Given the description of an element on the screen output the (x, y) to click on. 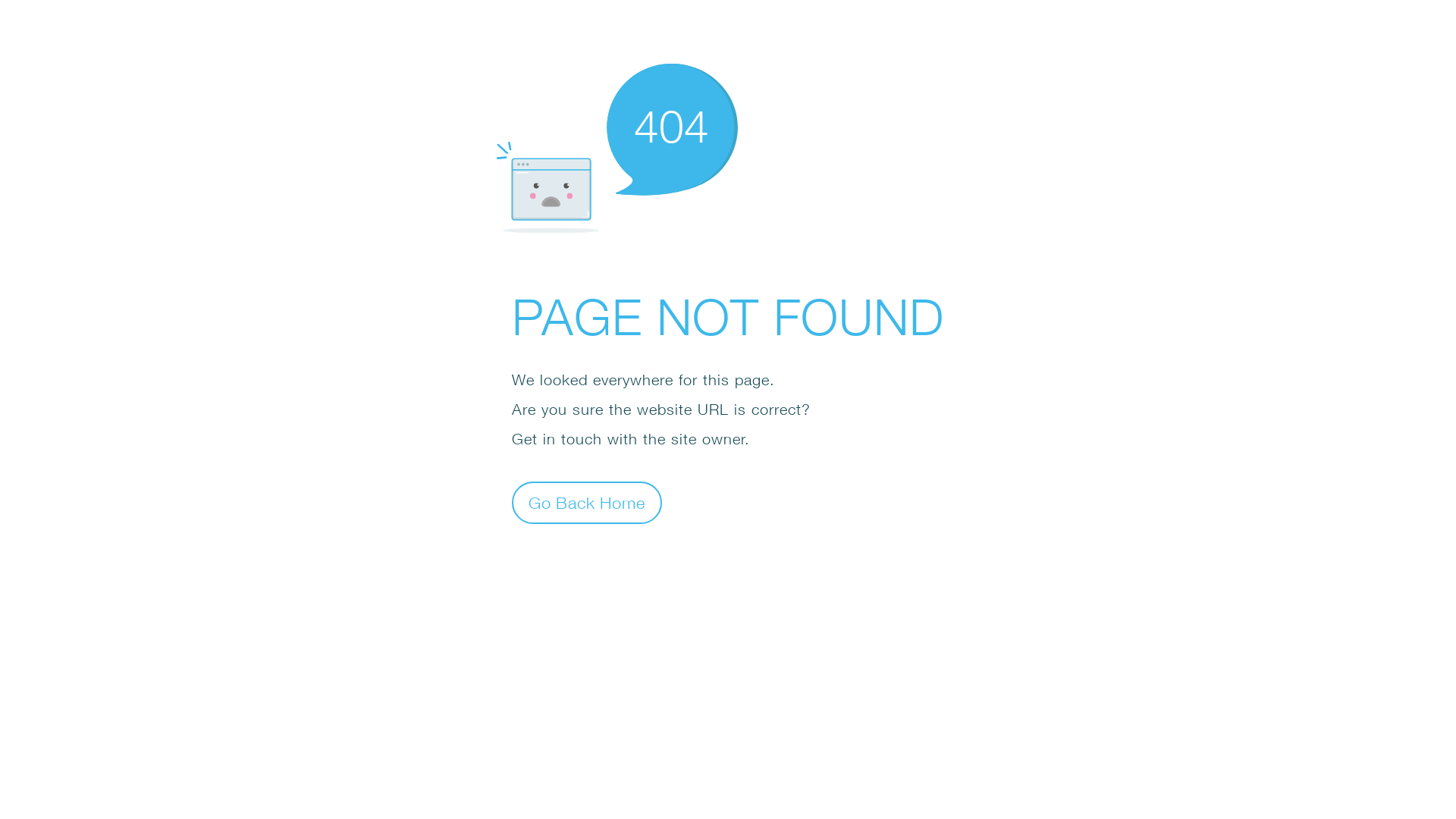
Go Back Home Element type: text (586, 502)
